Given the description of an element on the screen output the (x, y) to click on. 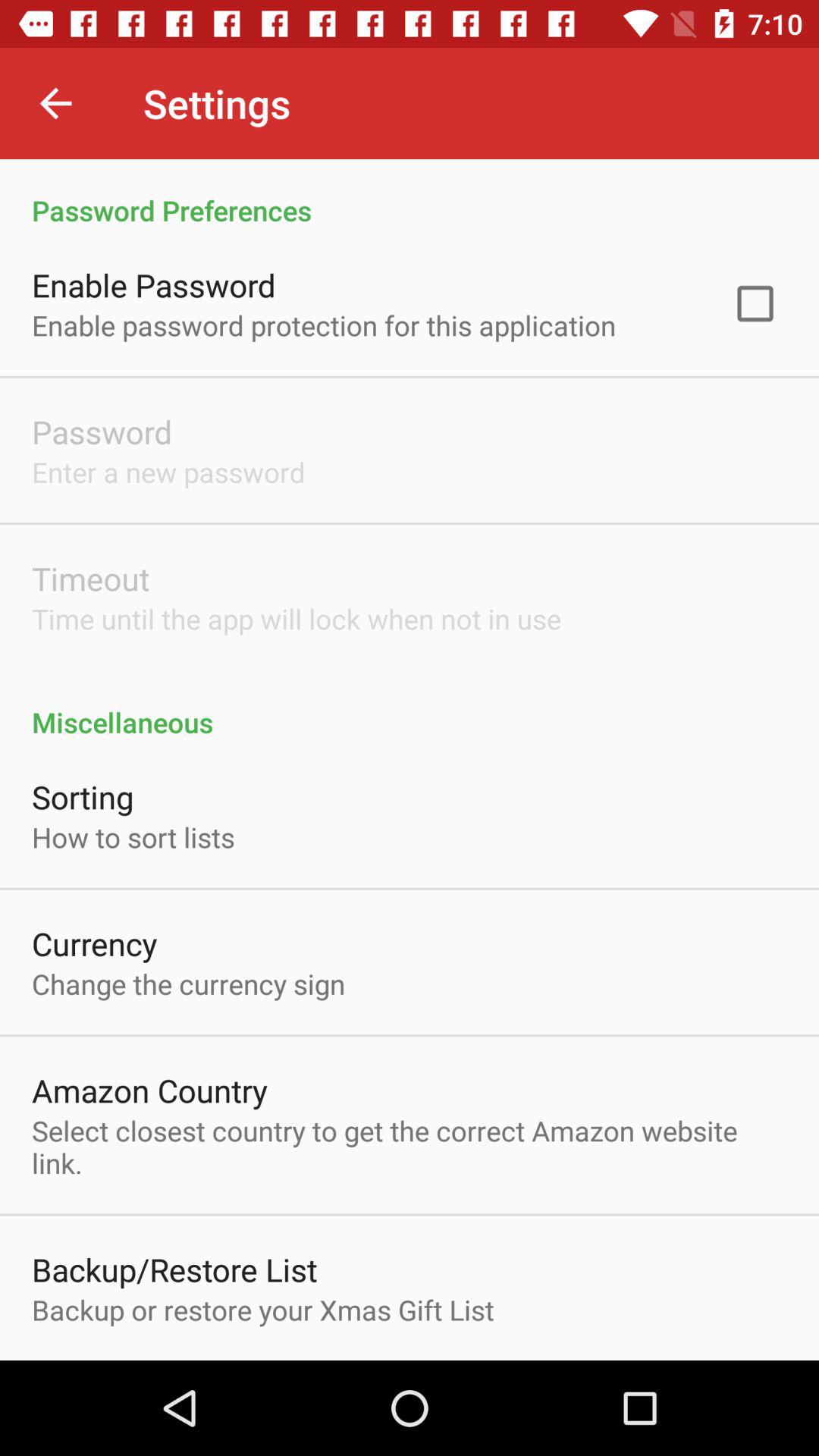
turn on item below the sorting (132, 836)
